Given the description of an element on the screen output the (x, y) to click on. 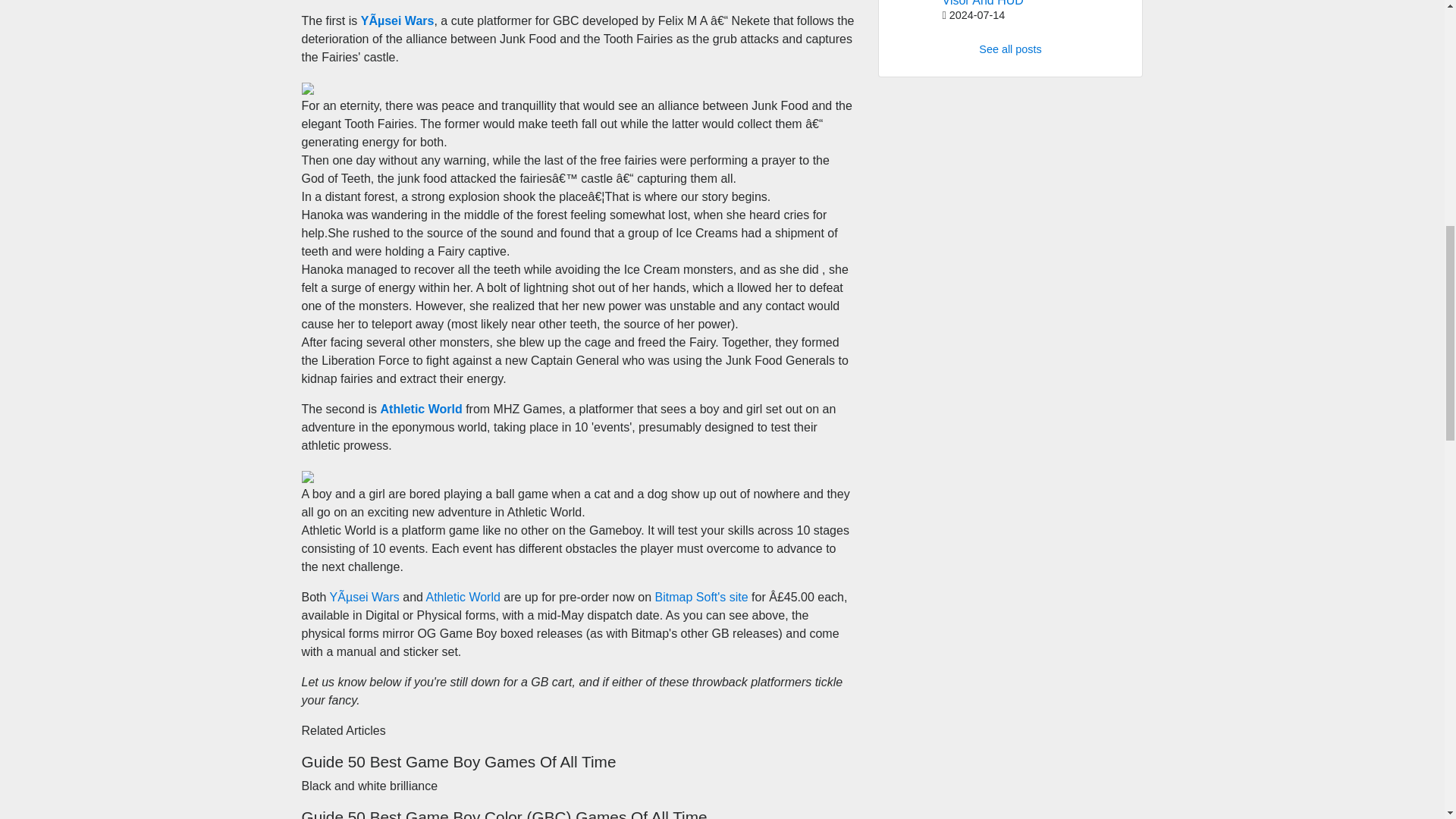
Bitmap Soft's site (701, 596)
Athletic World (421, 408)
Athletic World (462, 596)
See all posts (1009, 49)
